Given the description of an element on the screen output the (x, y) to click on. 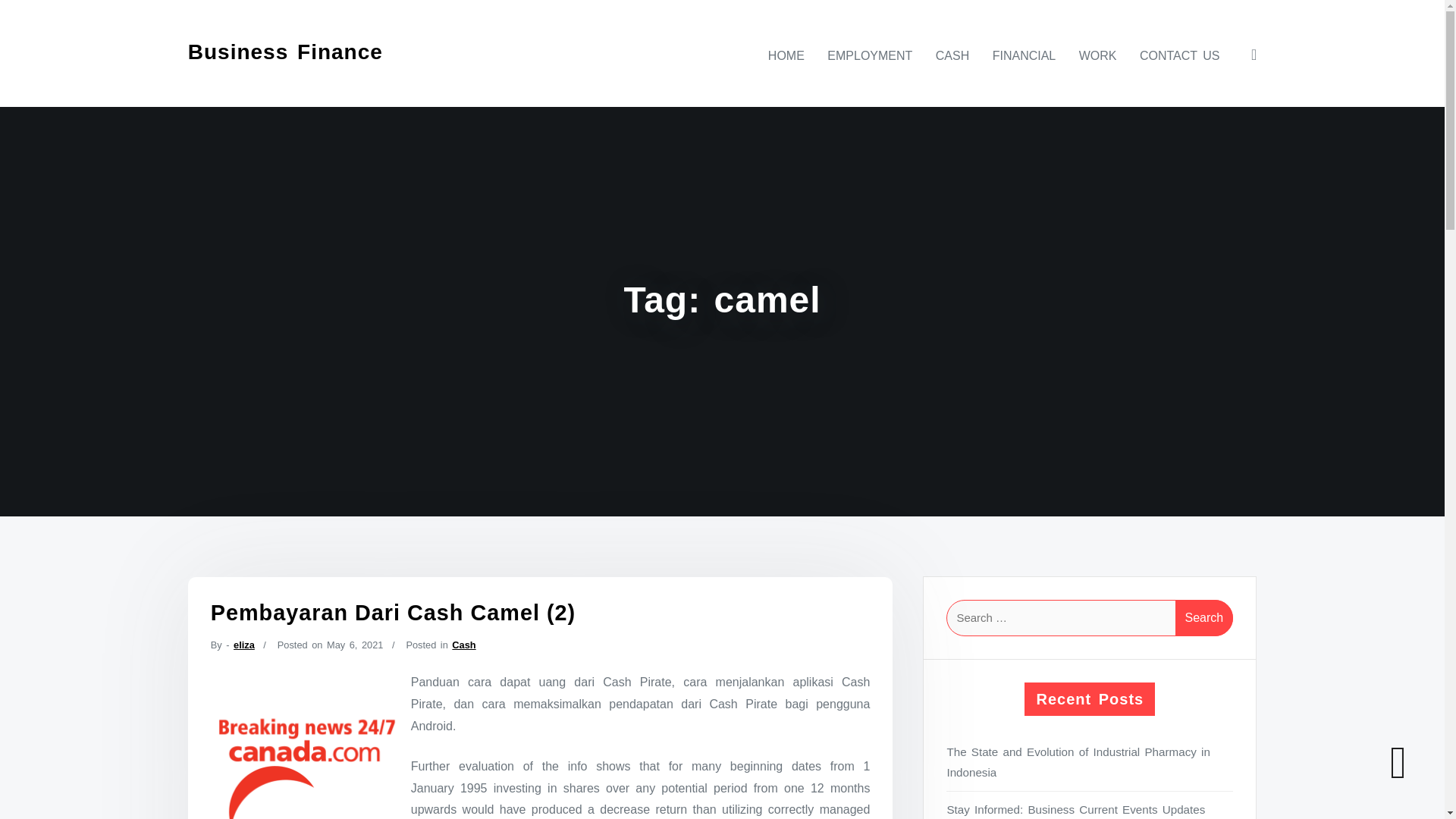
Cash (463, 644)
EMPLOYMENT (869, 55)
CONTACT US (1179, 55)
Stay Informed: Business Current Events Updates (1089, 809)
WORK (1097, 55)
HOME (785, 55)
Search (1203, 617)
FINANCIAL (1024, 55)
CASH (952, 55)
Business Finance (284, 51)
The State and Evolution of Industrial Pharmacy in Indonesia (1089, 762)
Search (1203, 617)
eliza (243, 644)
Search (1203, 617)
